Given the description of an element on the screen output the (x, y) to click on. 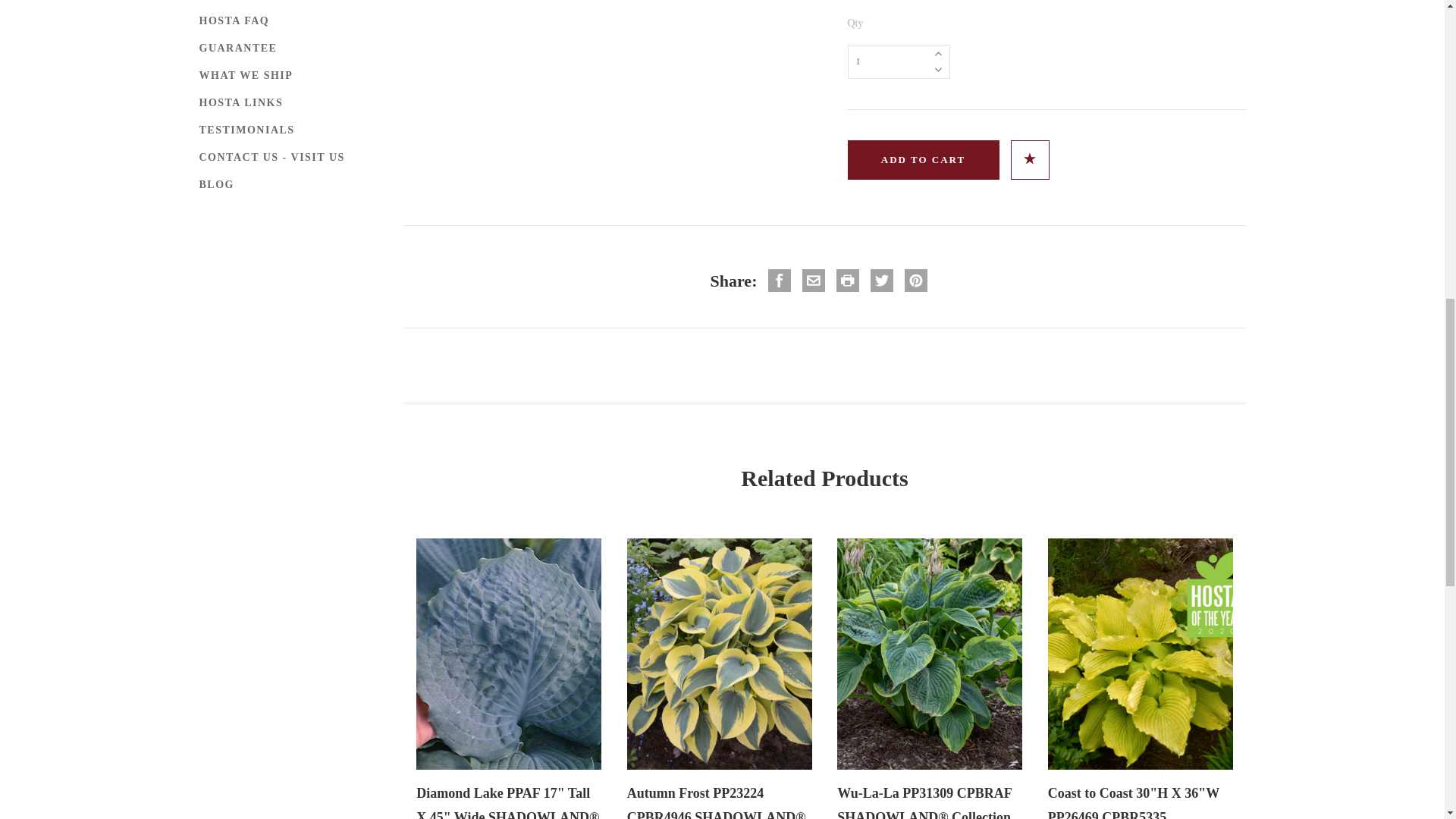
WHAT WE SHIP (247, 75)
1 (898, 61)
Decrease quantity (938, 69)
Share on Facebook (779, 280)
Share by email (813, 280)
CONTACT US - VISIT US (272, 157)
Add to wishlist (1029, 158)
GUARANTEE (239, 48)
HOSTA FAQ (235, 21)
Share on Twitter (881, 280)
